Given the description of an element on the screen output the (x, y) to click on. 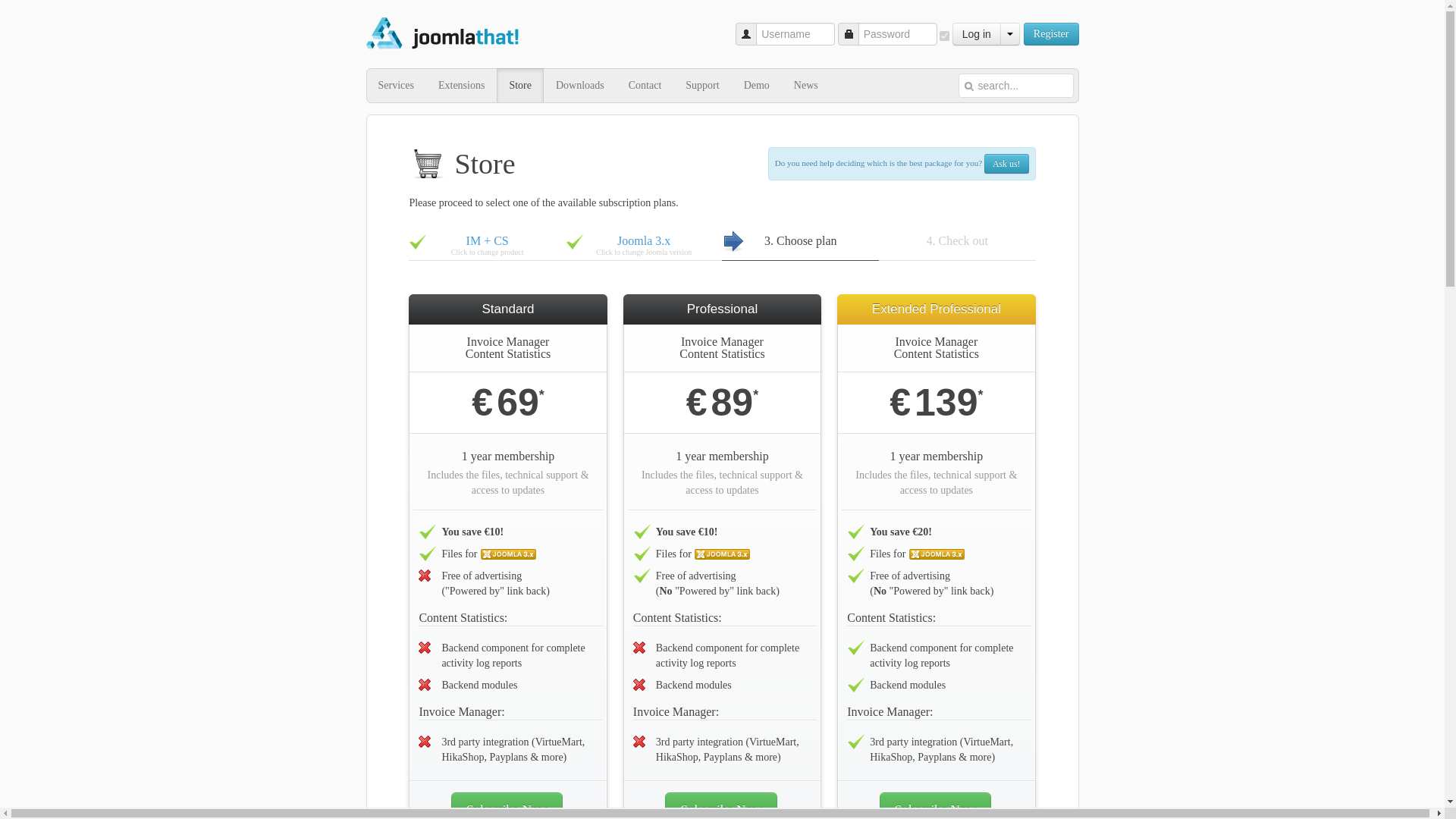
Downloads (579, 85)
Log in (644, 246)
Ask us! (976, 33)
News (1006, 163)
Reset (805, 85)
Store (5, 2)
Subscribe Now (519, 85)
Register (506, 805)
Subscribe Now (1050, 33)
Subscribe Now (935, 805)
Support (720, 805)
yes (701, 85)
Contact (944, 35)
